Given the description of an element on the screen output the (x, y) to click on. 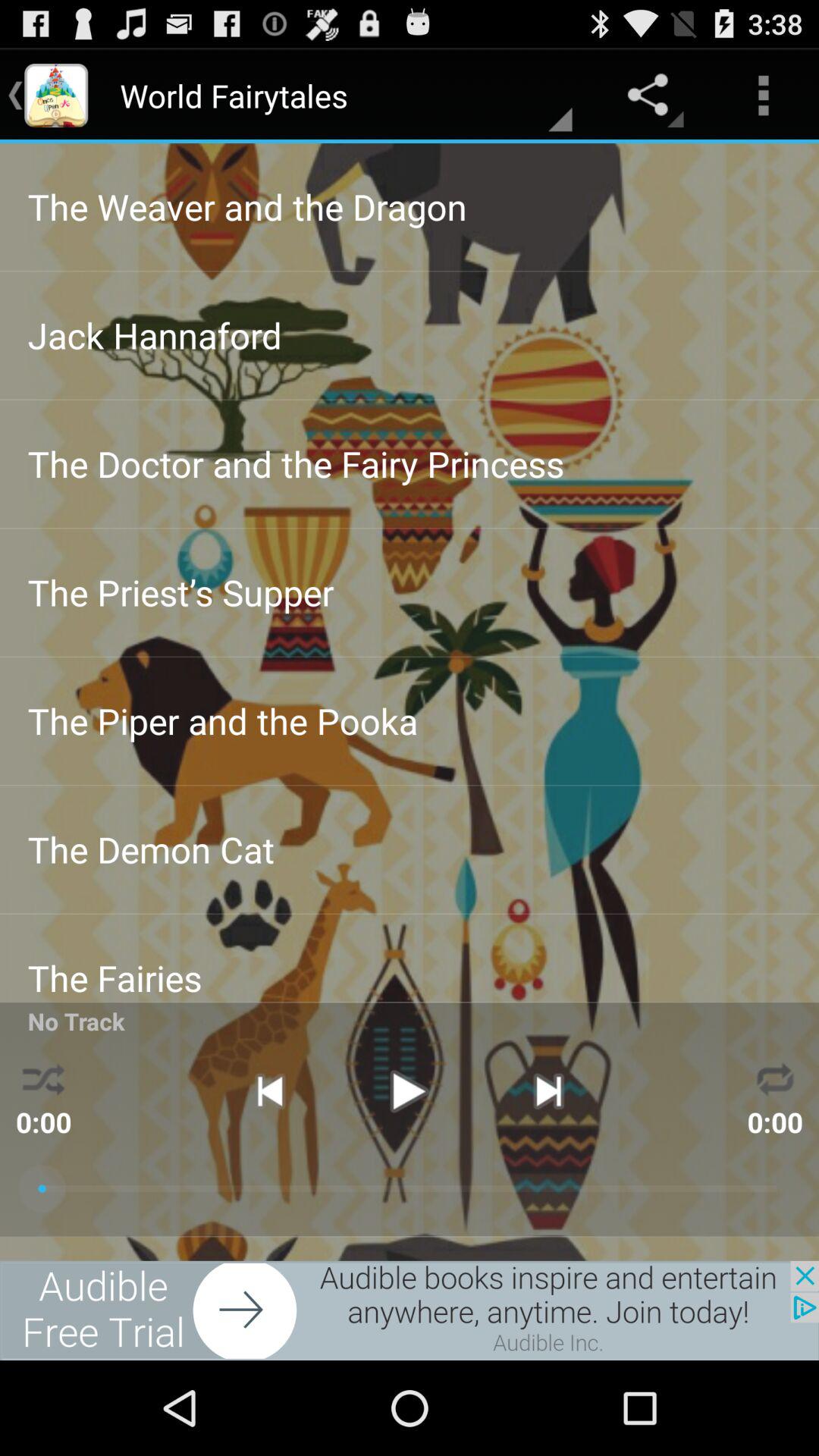
advertisement (409, 1310)
